Given the description of an element on the screen output the (x, y) to click on. 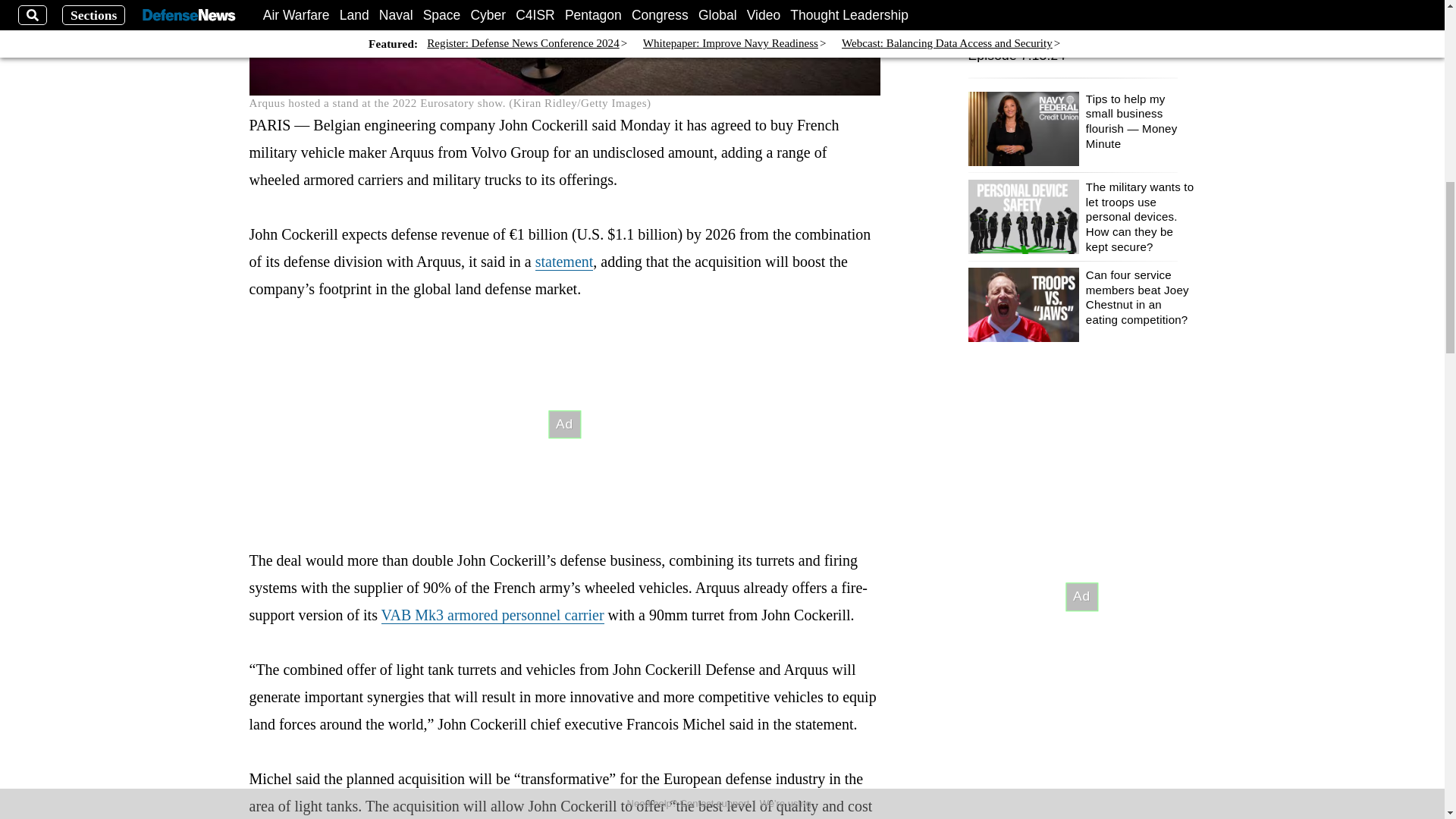
3rd party ad content (563, 424)
